Given the description of an element on the screen output the (x, y) to click on. 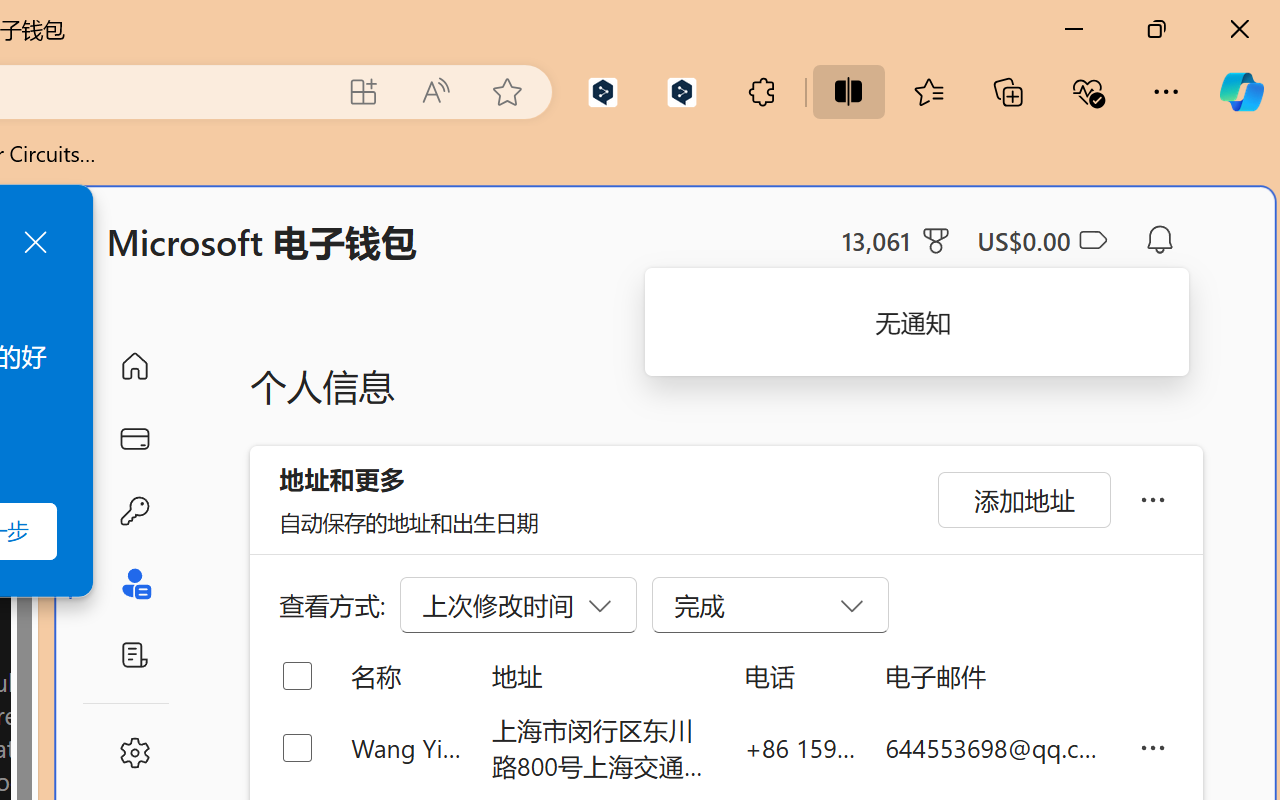
644553698@qq.com (996, 747)
